Given the description of an element on the screen output the (x, y) to click on. 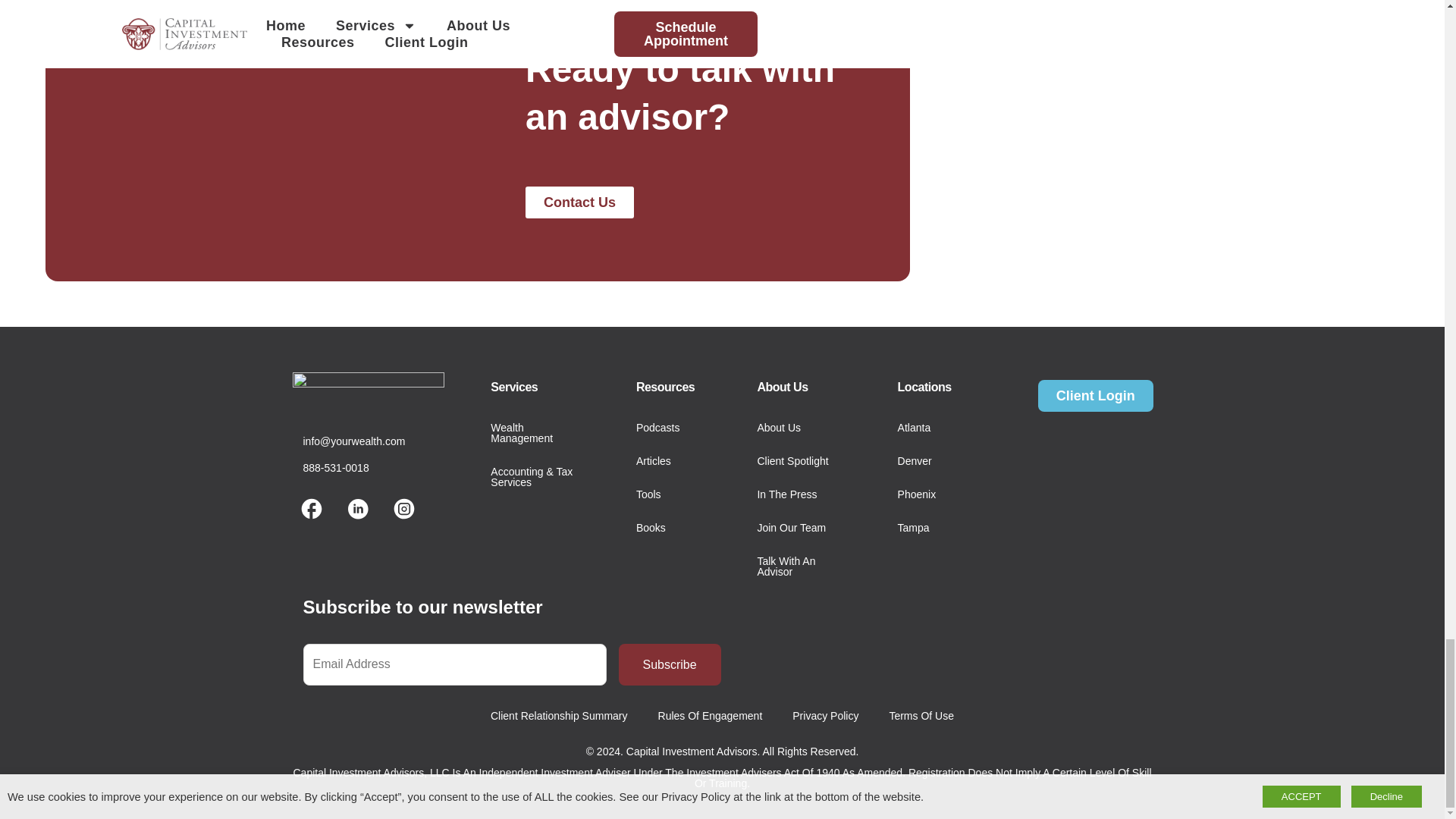
Subscribe (669, 664)
